Given the description of an element on the screen output the (x, y) to click on. 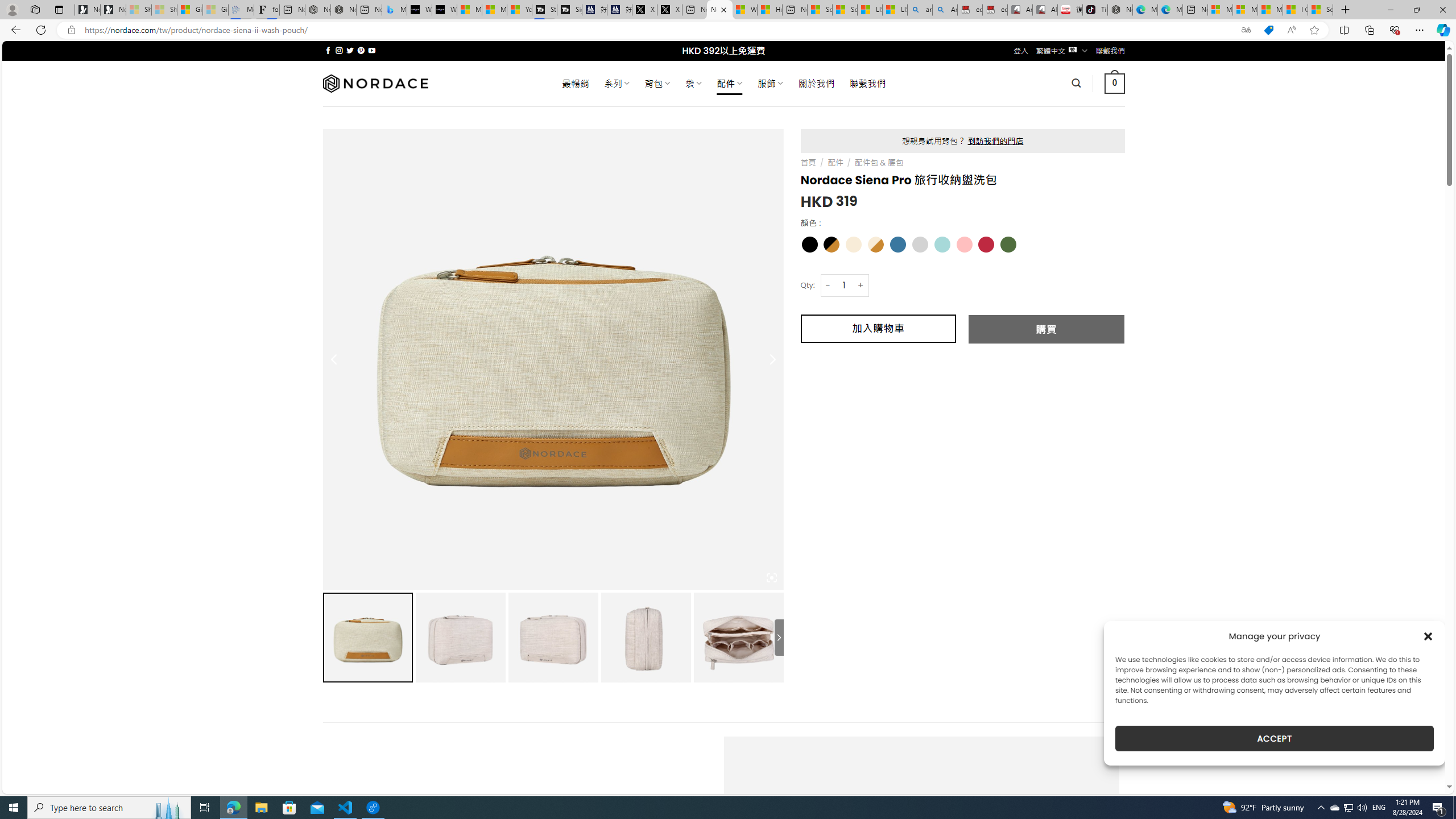
Follow on YouTube (371, 50)
TikTok (1094, 9)
 0  (1115, 83)
